Given the description of an element on the screen output the (x, y) to click on. 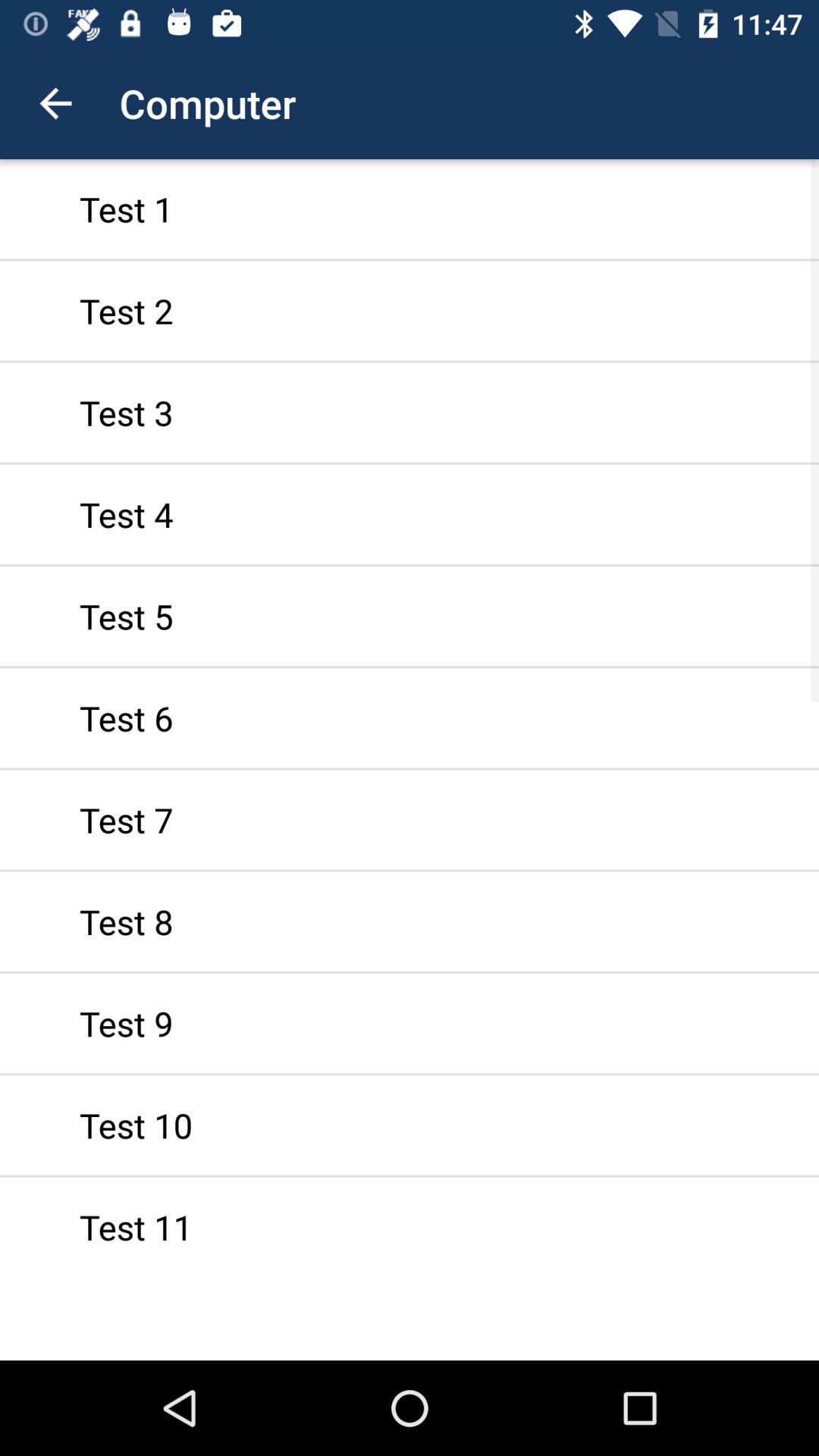
scroll until the test 6 item (409, 717)
